Given the description of an element on the screen output the (x, y) to click on. 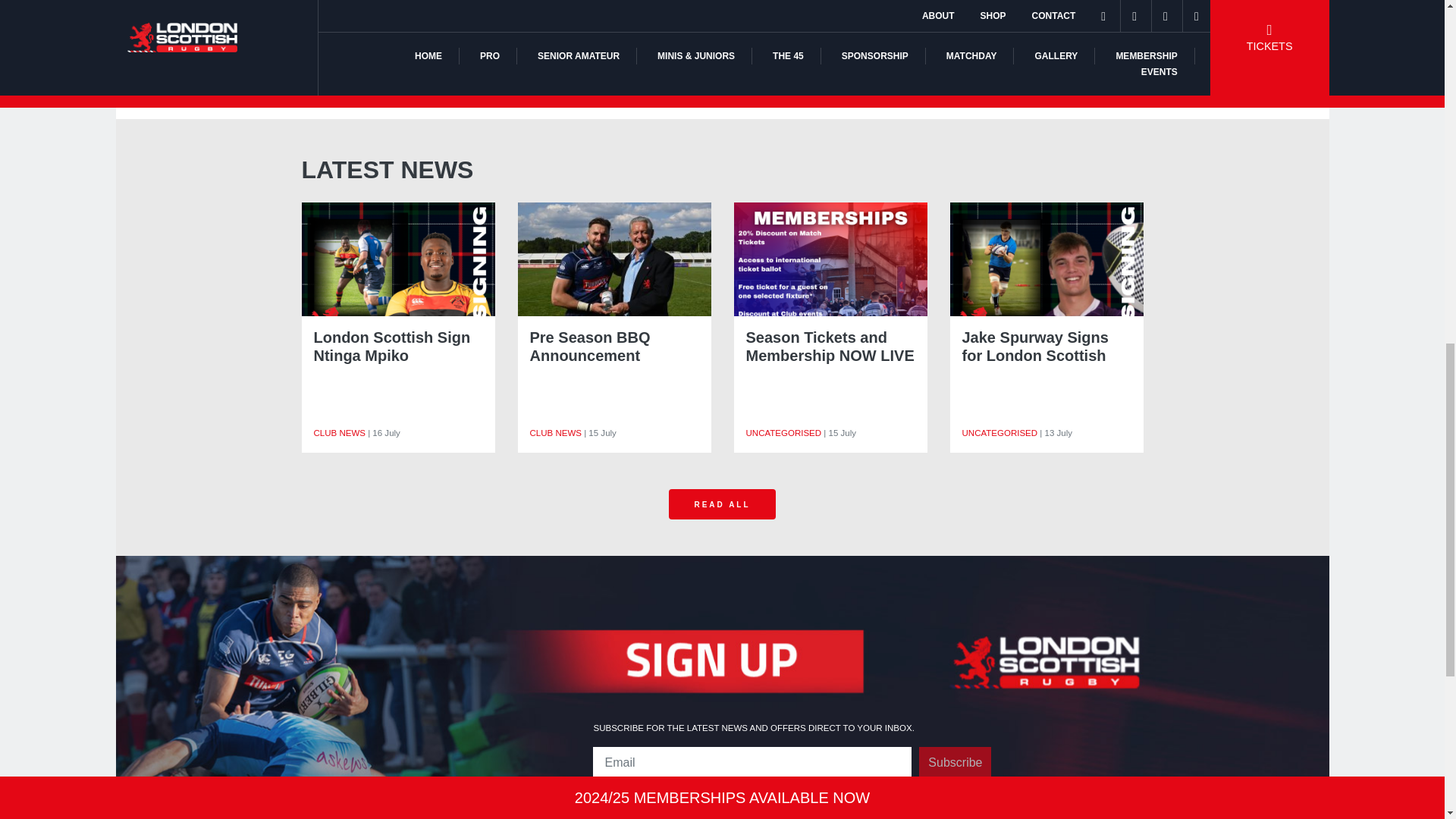
Subscribe (954, 762)
